Given the description of an element on the screen output the (x, y) to click on. 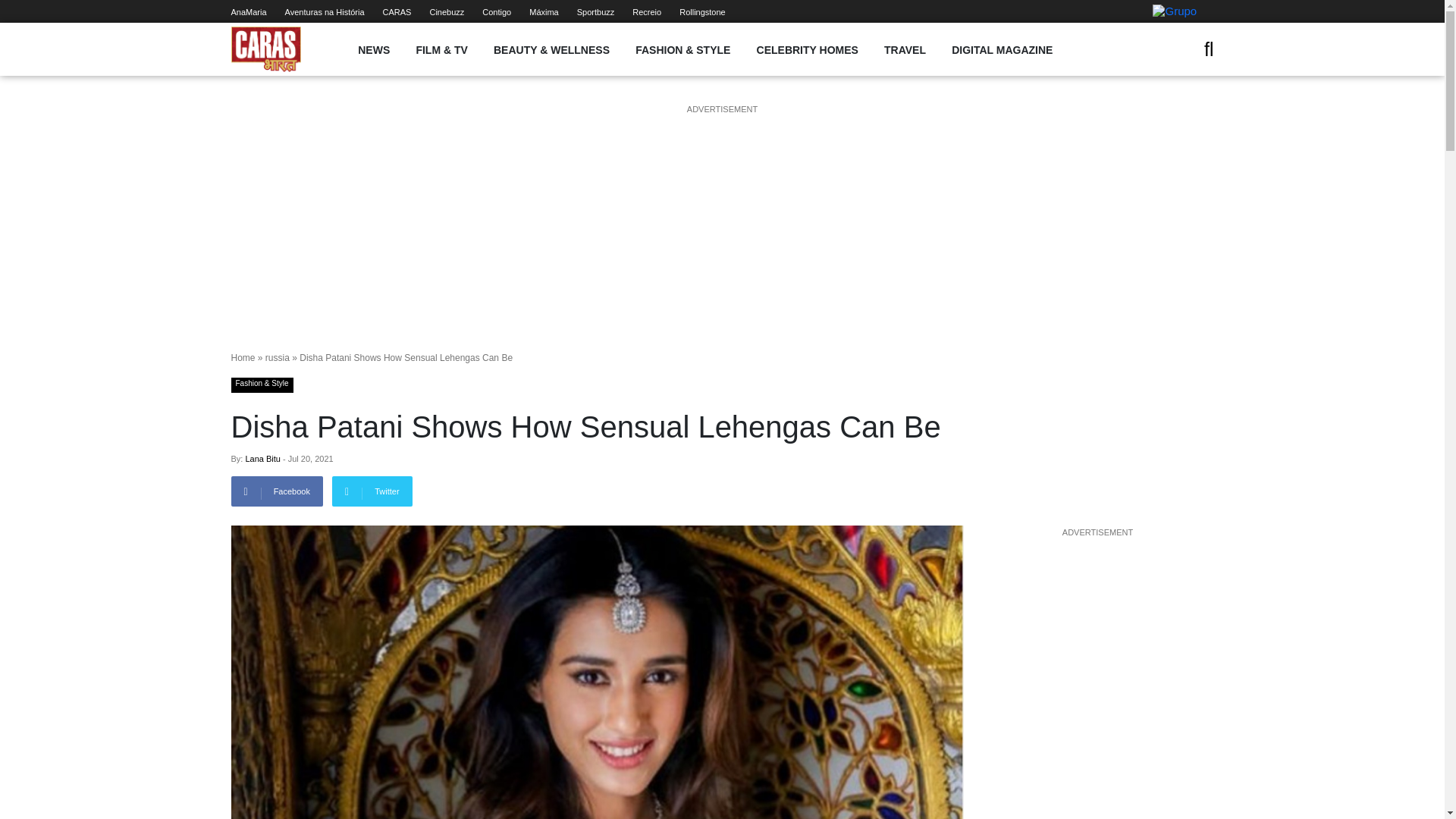
DIGITAL MAGAZINE (1002, 50)
CARAS (397, 11)
Contigo (496, 11)
Sportbuzz (595, 11)
AnaMaria (248, 11)
Rollingstone (702, 11)
Facebook (275, 490)
Recreio (646, 11)
Twitter (371, 490)
Home (242, 357)
